Given the description of an element on the screen output the (x, y) to click on. 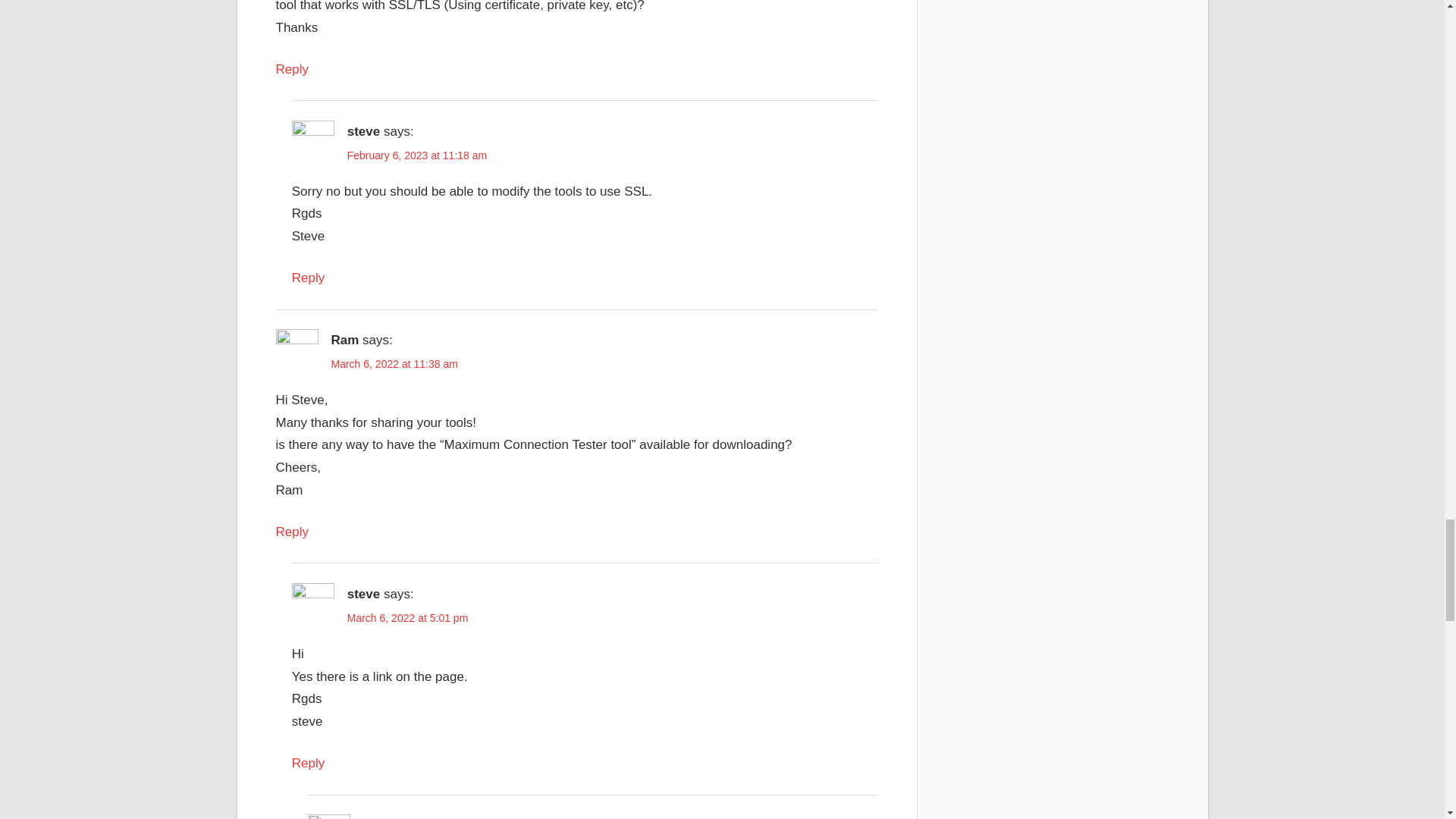
Reply (292, 531)
February 6, 2023 at 11:18 am (416, 155)
Reply (308, 278)
March 6, 2022 at 5:01 pm (407, 617)
Reply (292, 69)
March 6, 2022 at 11:38 am (393, 363)
